Given the description of an element on the screen output the (x, y) to click on. 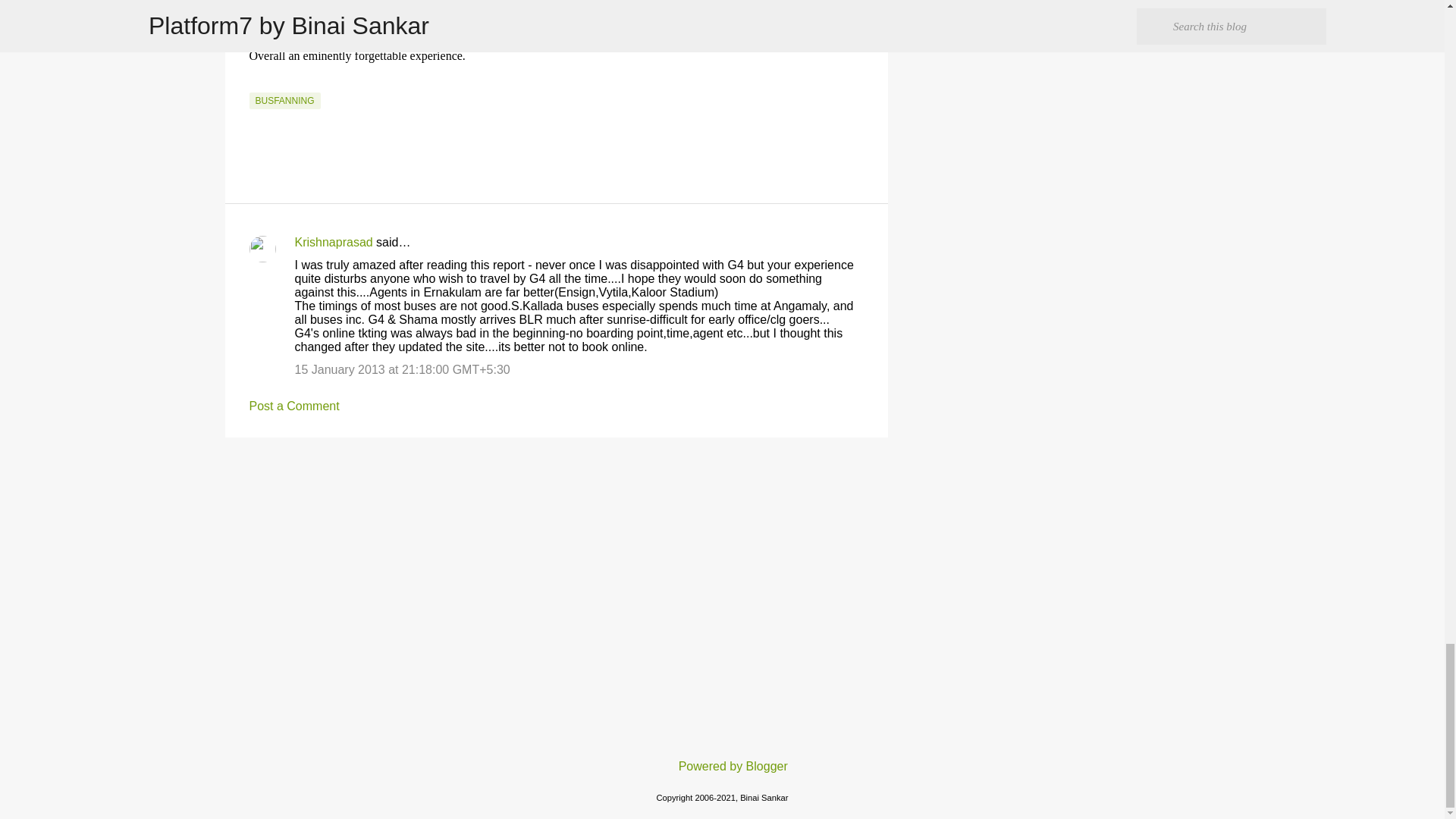
Krishnaprasad (333, 241)
Email Post (257, 82)
Post a Comment (293, 405)
comment permalink (401, 369)
Powered by Blogger (721, 766)
BUSFANNING (284, 100)
